Given the description of an element on the screen output the (x, y) to click on. 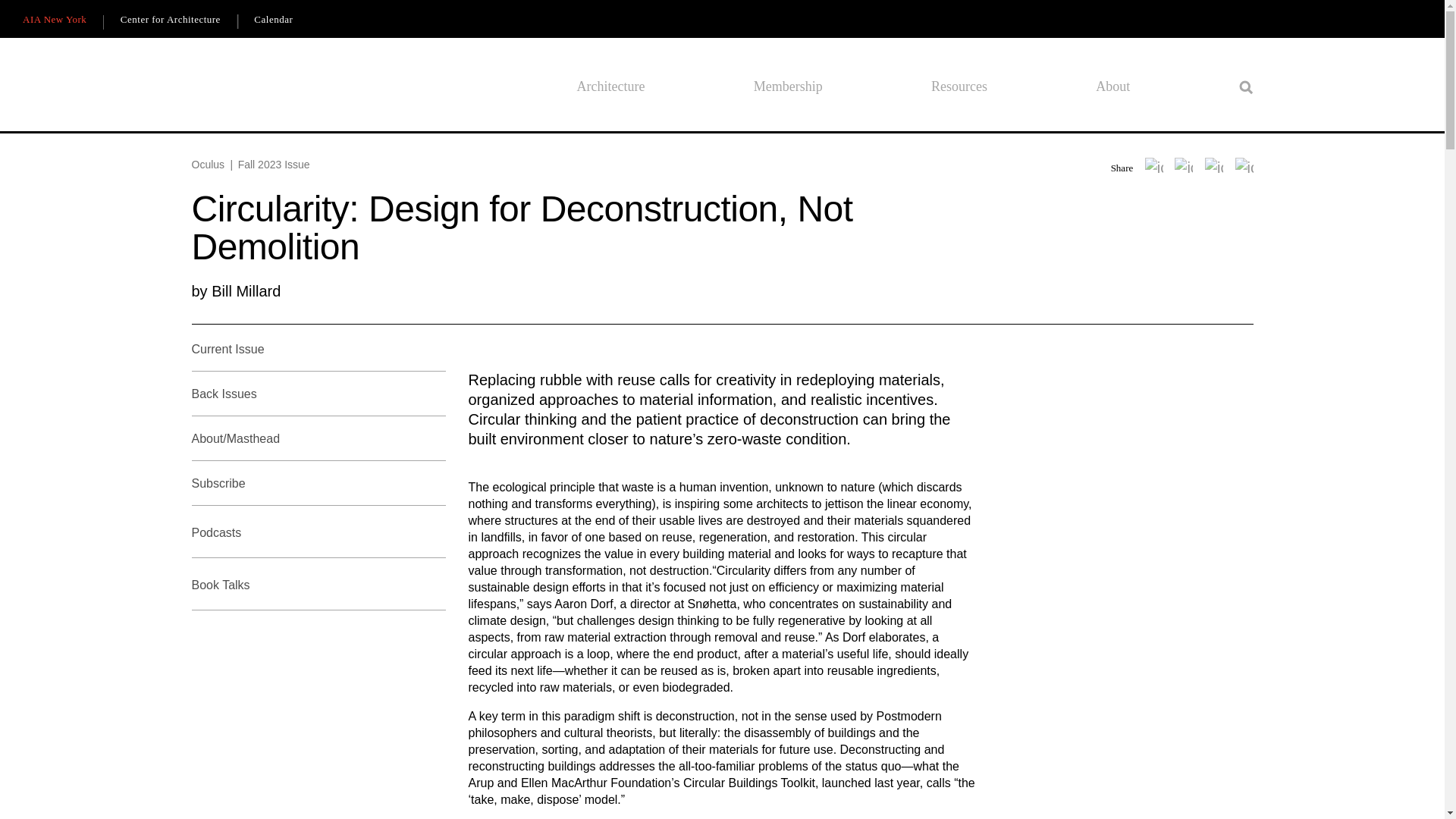
Membership (788, 85)
Calendar (272, 19)
Resources (959, 85)
AIA New York (54, 19)
About (1112, 85)
Architecture (610, 85)
Center for Architecture (169, 19)
